Given the description of an element on the screen output the (x, y) to click on. 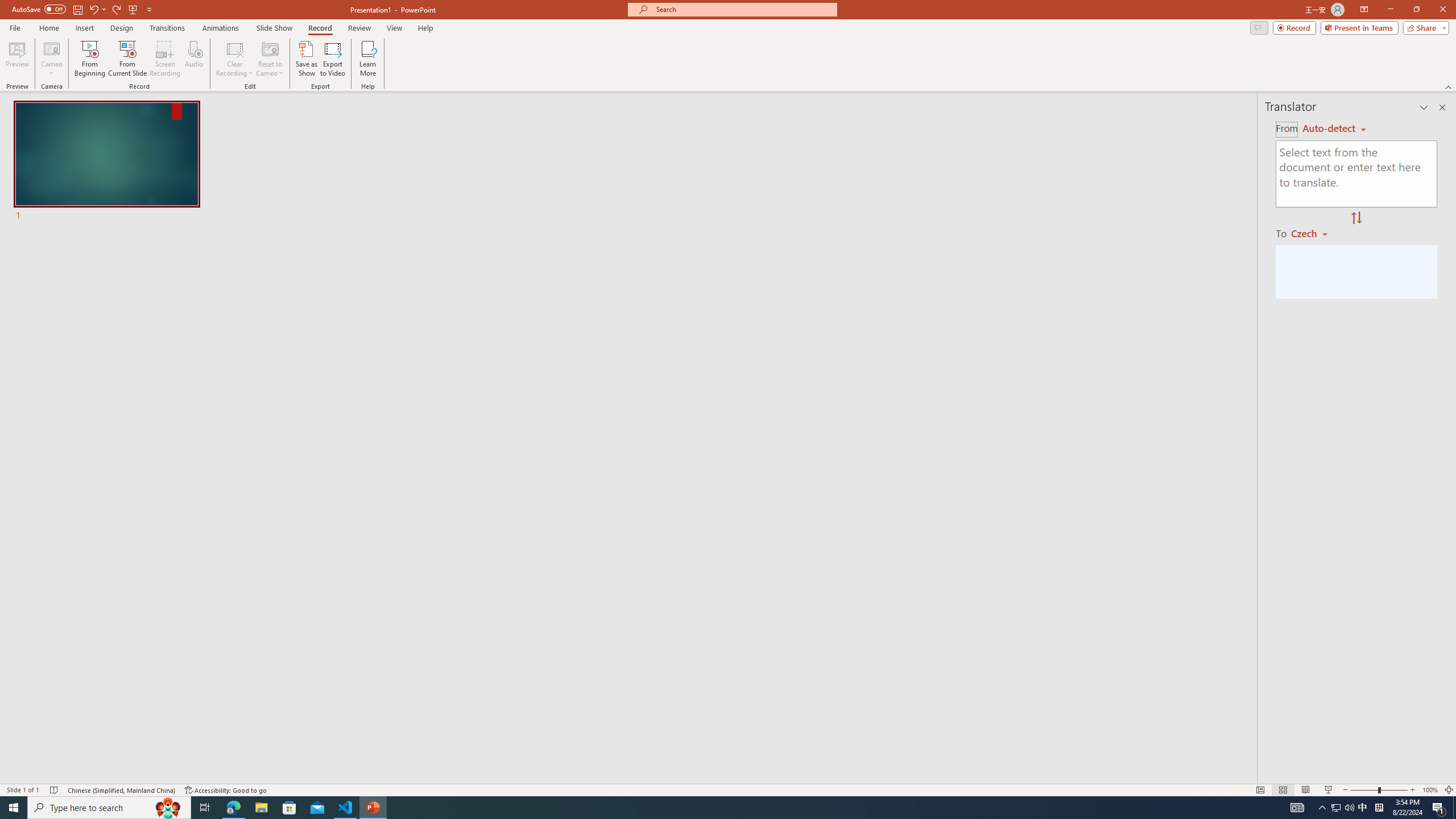
Reset to Cameo (269, 58)
Auto-detect (1334, 128)
Audio (193, 58)
